Given the description of an element on the screen output the (x, y) to click on. 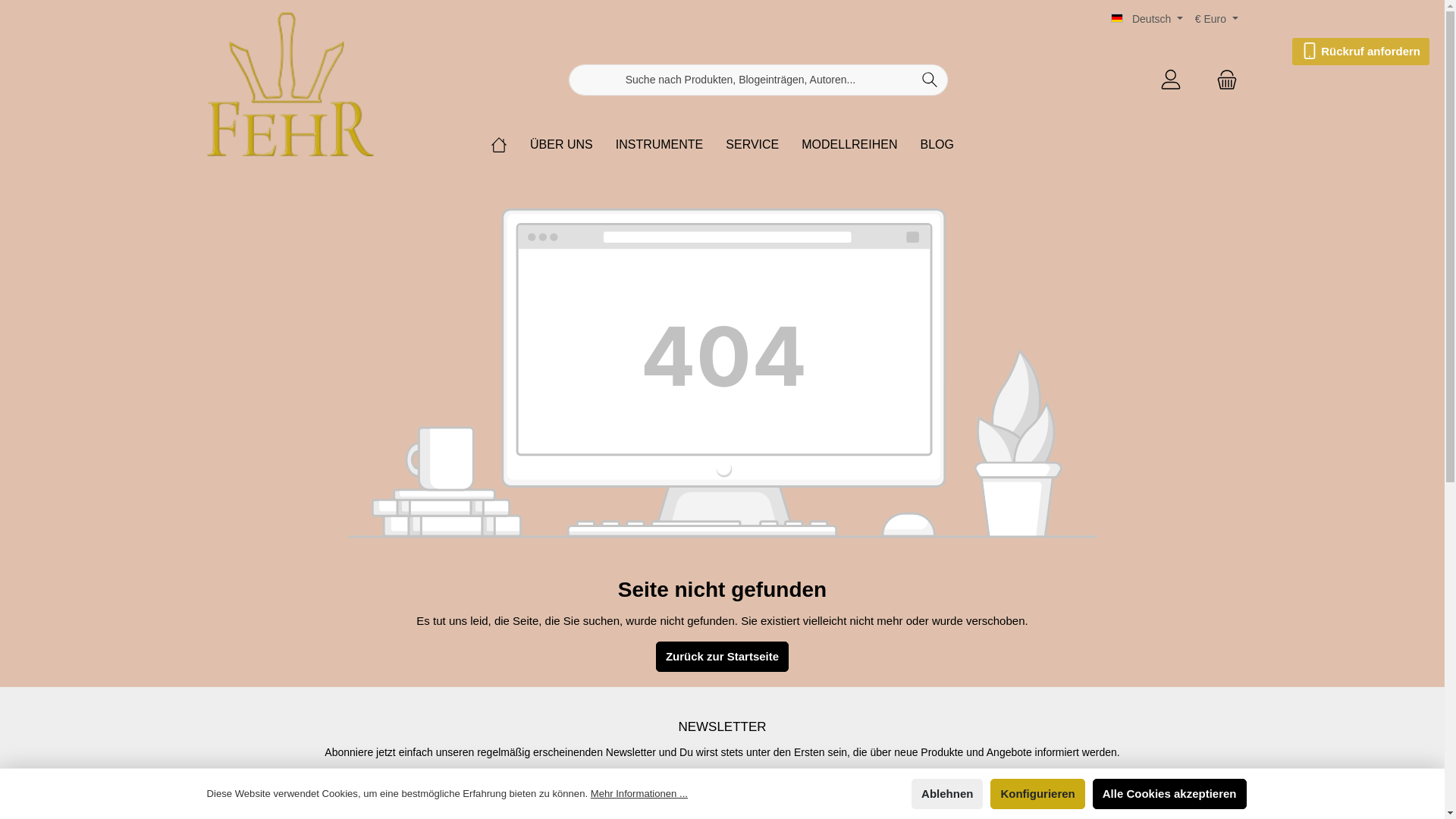
Mein Konto Element type: hover (1169, 79)
Konfigurieren Element type: text (1037, 793)
Warenkorb Element type: hover (1221, 79)
INSTRUMENTE Element type: text (659, 144)
SERVICE Element type: text (752, 144)
Deutsch Element type: text (1146, 18)
BLOG Element type: text (936, 144)
Zur Startseite wechseln Element type: hover (289, 79)
Alle Cookies akzeptieren Element type: text (1169, 793)
Mehr Informationen ... Element type: text (638, 793)
Ablehnen Element type: text (946, 793)
Home Element type: hover (498, 144)
MODELLREIHEN Element type: text (849, 144)
